Given the description of an element on the screen output the (x, y) to click on. 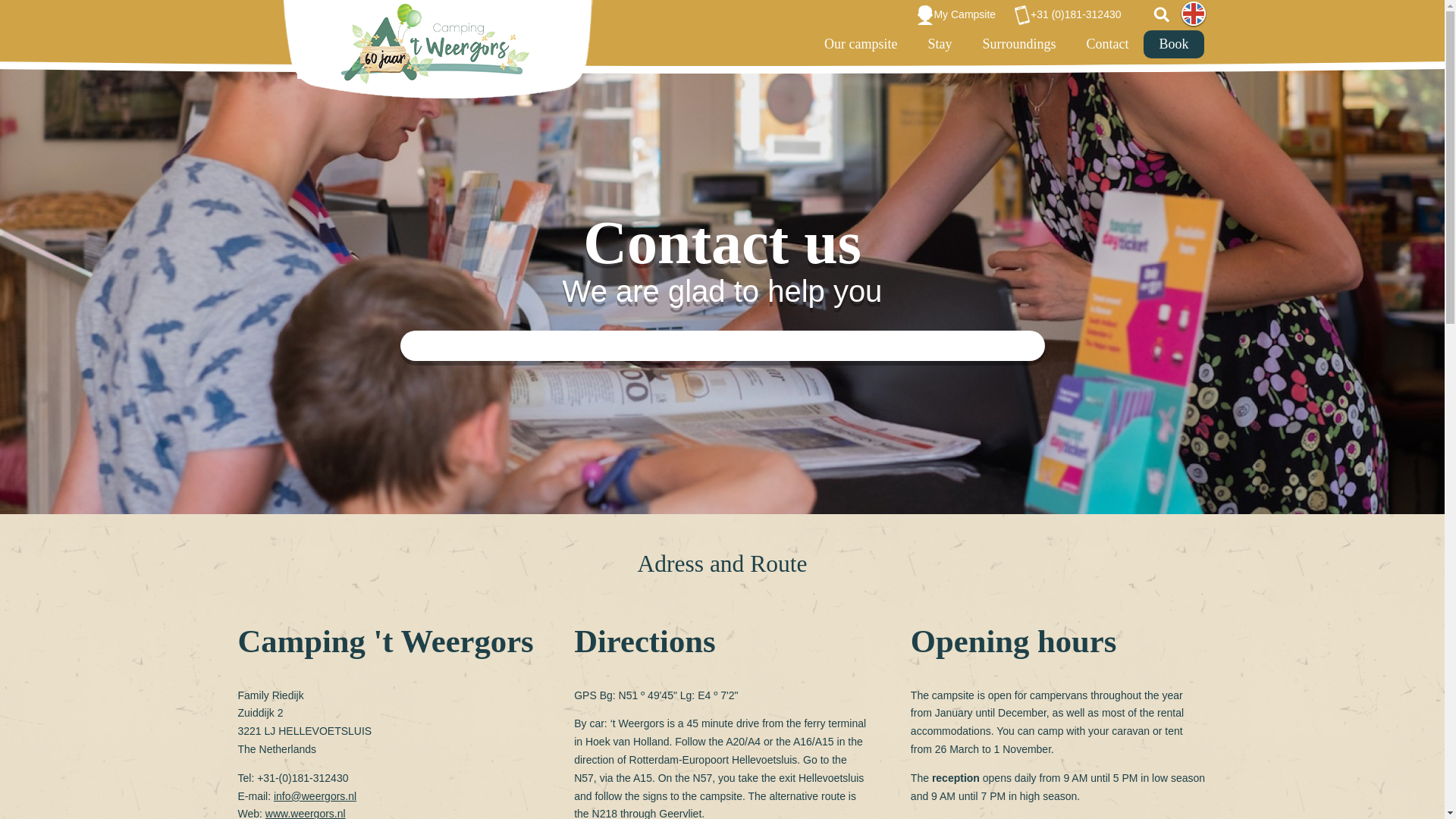
Terug naar de homepage (437, 49)
Contact (1106, 44)
www.weergors.nl (305, 813)
Stay (939, 44)
Book (1173, 44)
Login op mijn omgeving (959, 14)
My Campsite (959, 14)
Our campsite (860, 44)
Surroundings (1018, 44)
Bel Camping 't Weergors (1070, 14)
